Given the description of an element on the screen output the (x, y) to click on. 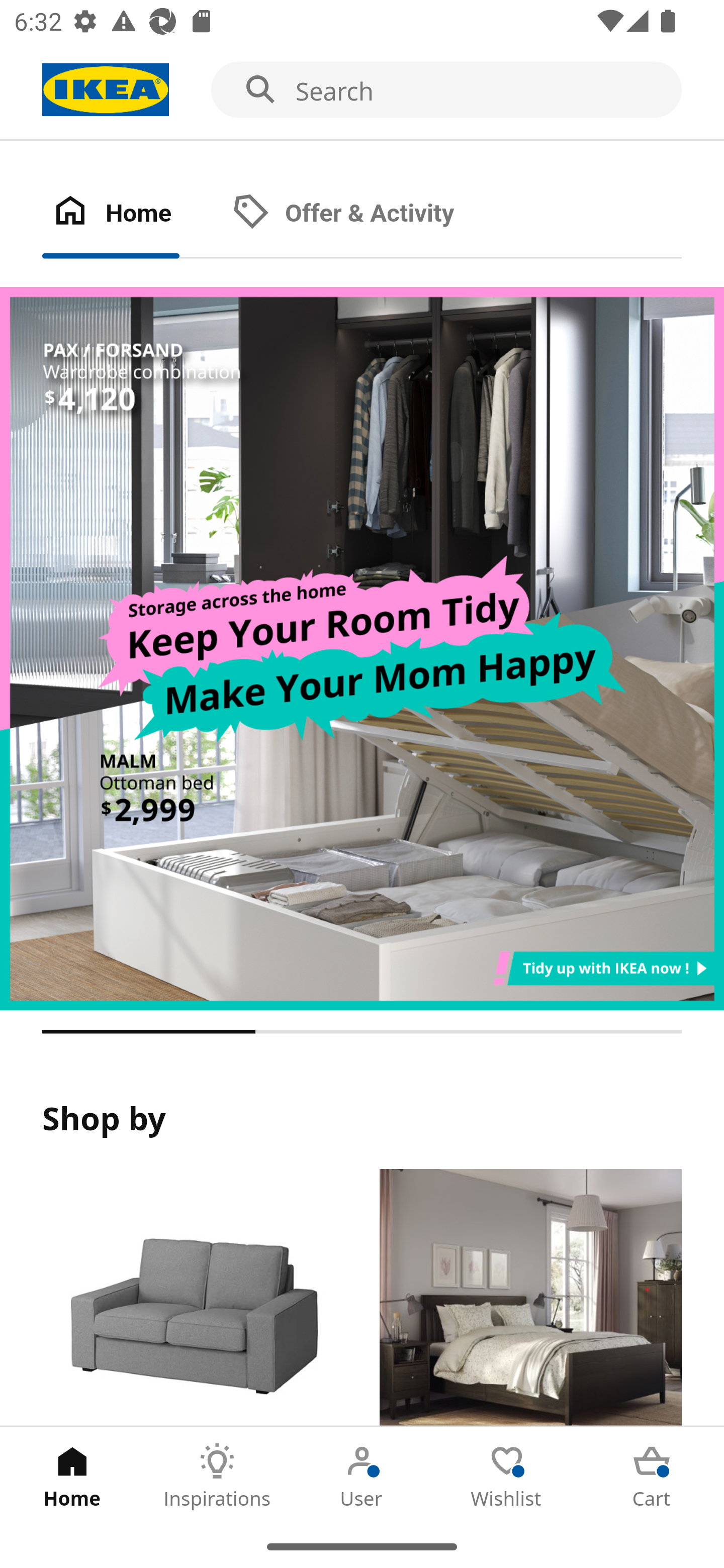
Search (361, 90)
Home
Tab 1 of 2 (131, 213)
Offer & Activity
Tab 2 of 2 (363, 213)
Products (192, 1297)
Rooms (530, 1297)
Home
Tab 1 of 5 (72, 1476)
Inspirations
Tab 2 of 5 (216, 1476)
User
Tab 3 of 5 (361, 1476)
Wishlist
Tab 4 of 5 (506, 1476)
Cart
Tab 5 of 5 (651, 1476)
